Given the description of an element on the screen output the (x, y) to click on. 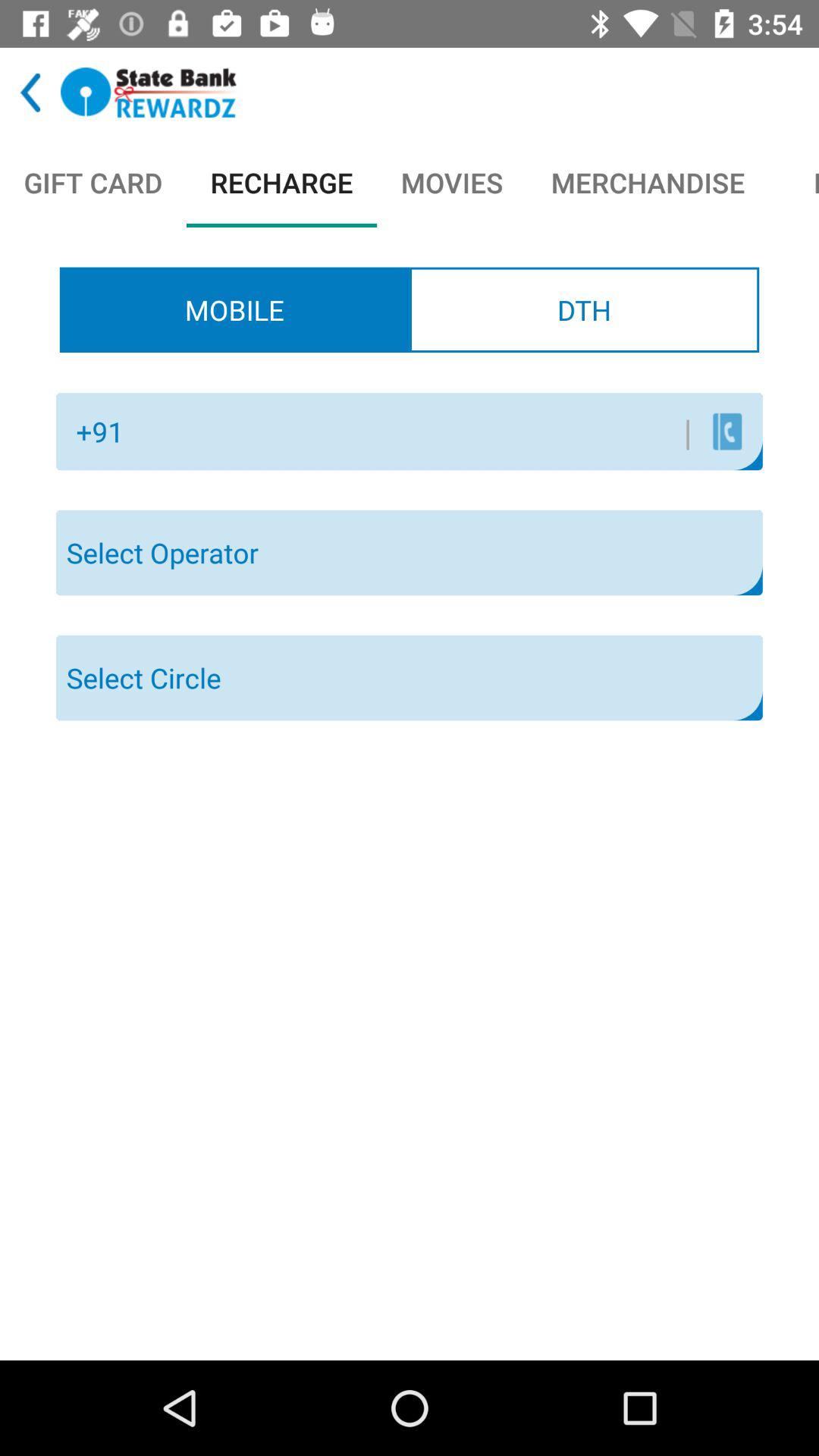
this is used to call (727, 431)
